Given the description of an element on the screen output the (x, y) to click on. 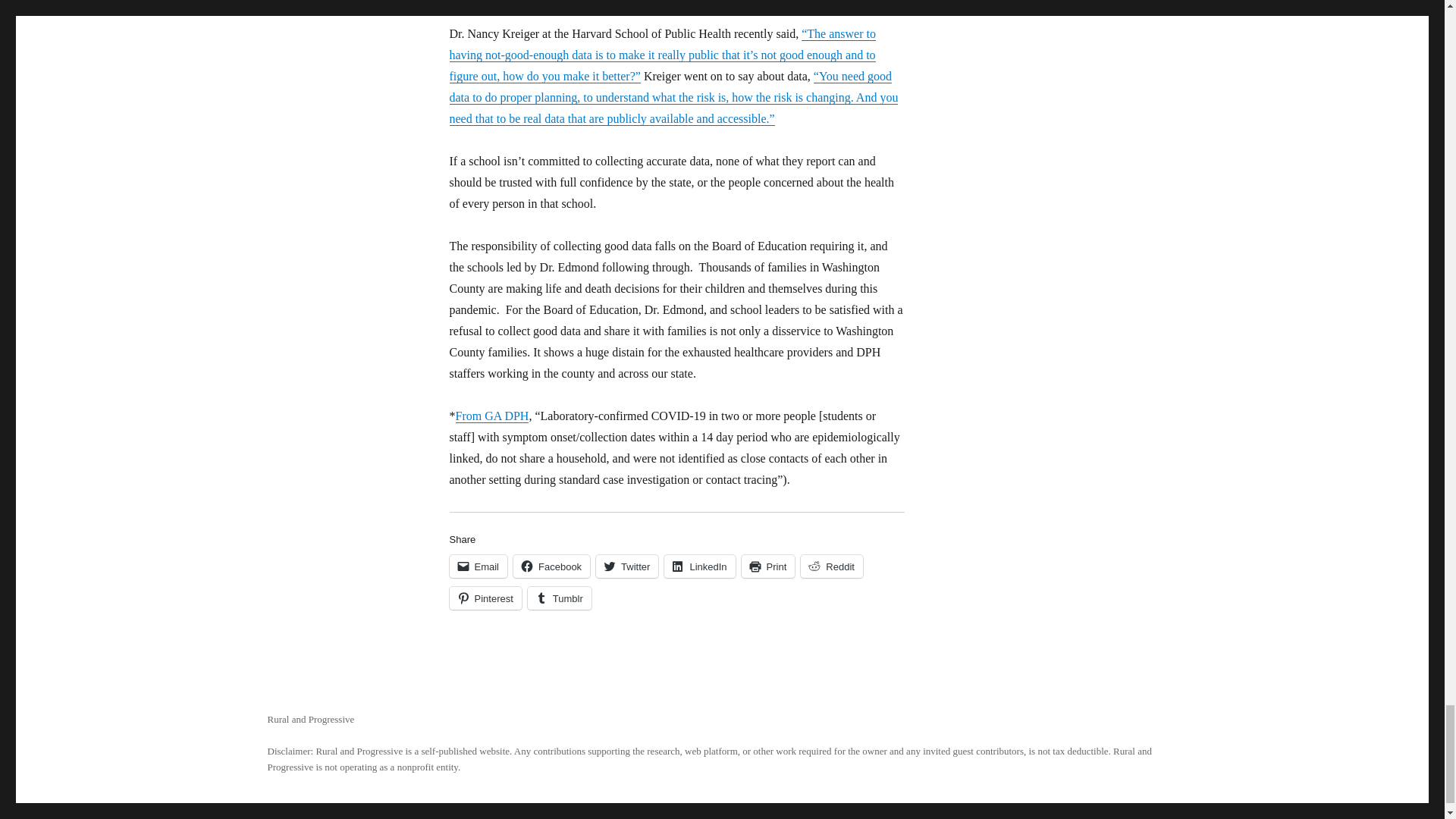
Click to email a link to a friend (477, 566)
Click to share on Pinterest (484, 598)
Click to share on LinkedIn (699, 566)
Click to print (767, 566)
Click to share on Twitter (626, 566)
Click to share on Reddit (831, 566)
Click to share on Facebook (551, 566)
